Given the description of an element on the screen output the (x, y) to click on. 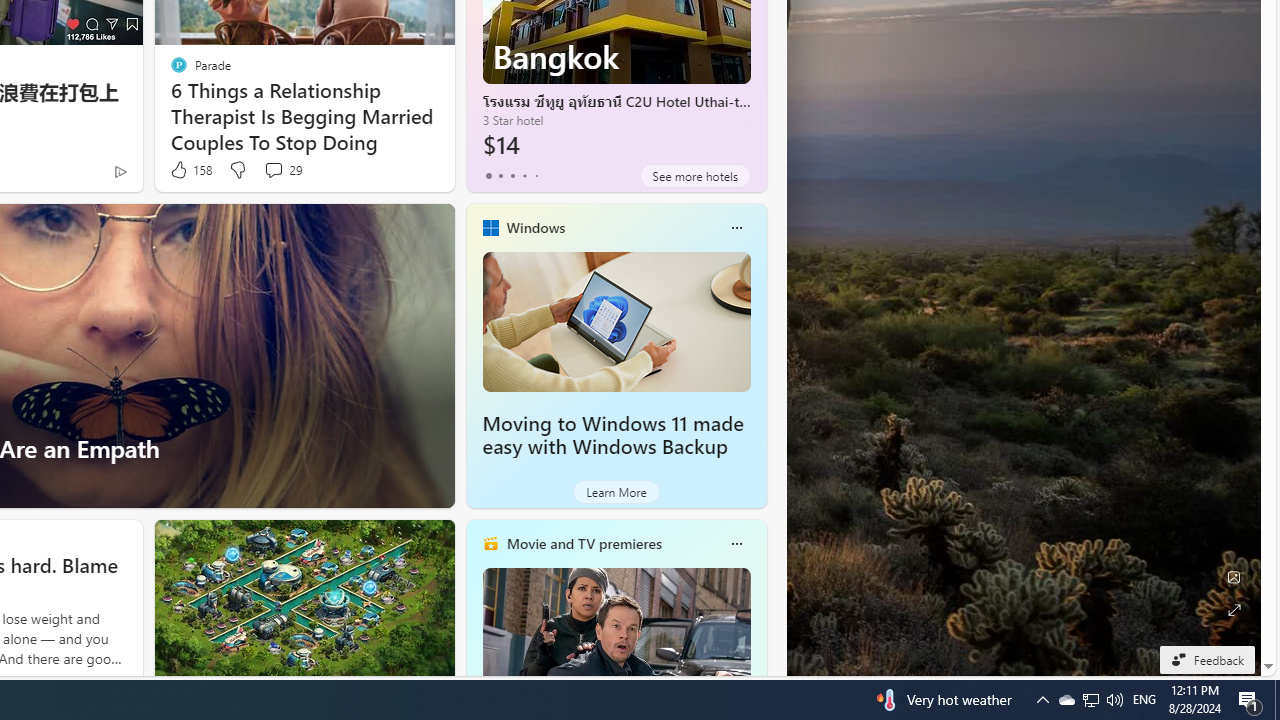
See more hotels (694, 175)
Class: icon-img (736, 543)
tab-4 (535, 175)
Movie and TV premieres (583, 543)
tab-1 (500, 175)
tab-3 (524, 175)
Learn More (616, 491)
tab-0 (488, 175)
Moving to Windows 11 made easy with Windows Backup (616, 321)
View comments 29 Comment (281, 170)
tab-2 (511, 175)
Expand background (1233, 610)
Windows (535, 227)
